Given the description of an element on the screen output the (x, y) to click on. 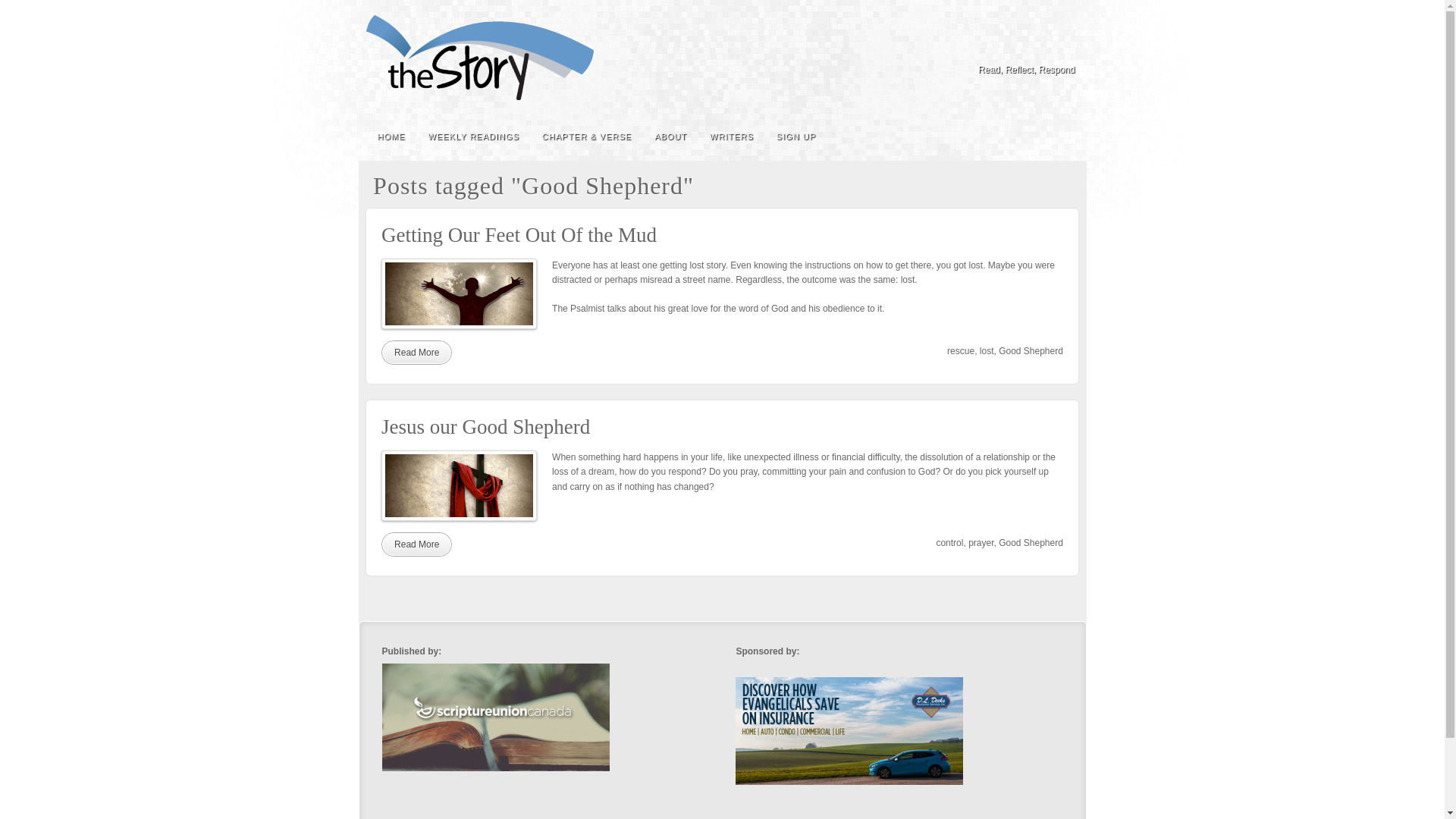
Getting Our Feet Out Of the Mud (518, 234)
Jesus our Good Shepherd (416, 544)
Rss (1064, 48)
lost (986, 350)
HOME (390, 135)
Good Shepherd (1030, 350)
Search the site... (1065, 136)
theStory (478, 57)
Facebook (1023, 48)
prayer (980, 542)
